Given the description of an element on the screen output the (x, y) to click on. 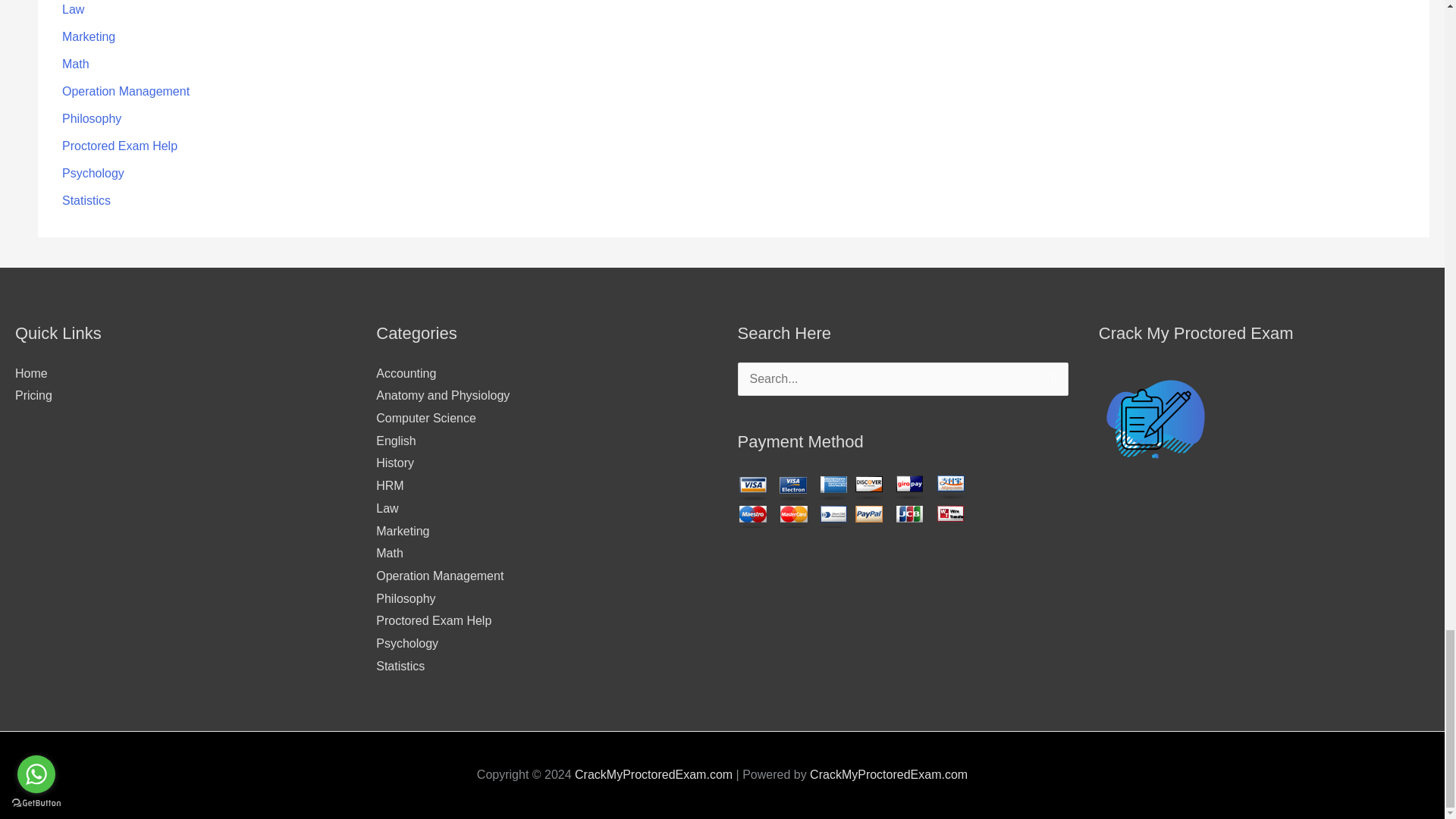
Marketing (88, 36)
Operation Management (125, 91)
Math (75, 63)
Psychology (92, 173)
Proctored Exam Help (119, 145)
Law (73, 9)
Statistics (86, 200)
Home (31, 373)
Philosophy (91, 118)
